Given the description of an element on the screen output the (x, y) to click on. 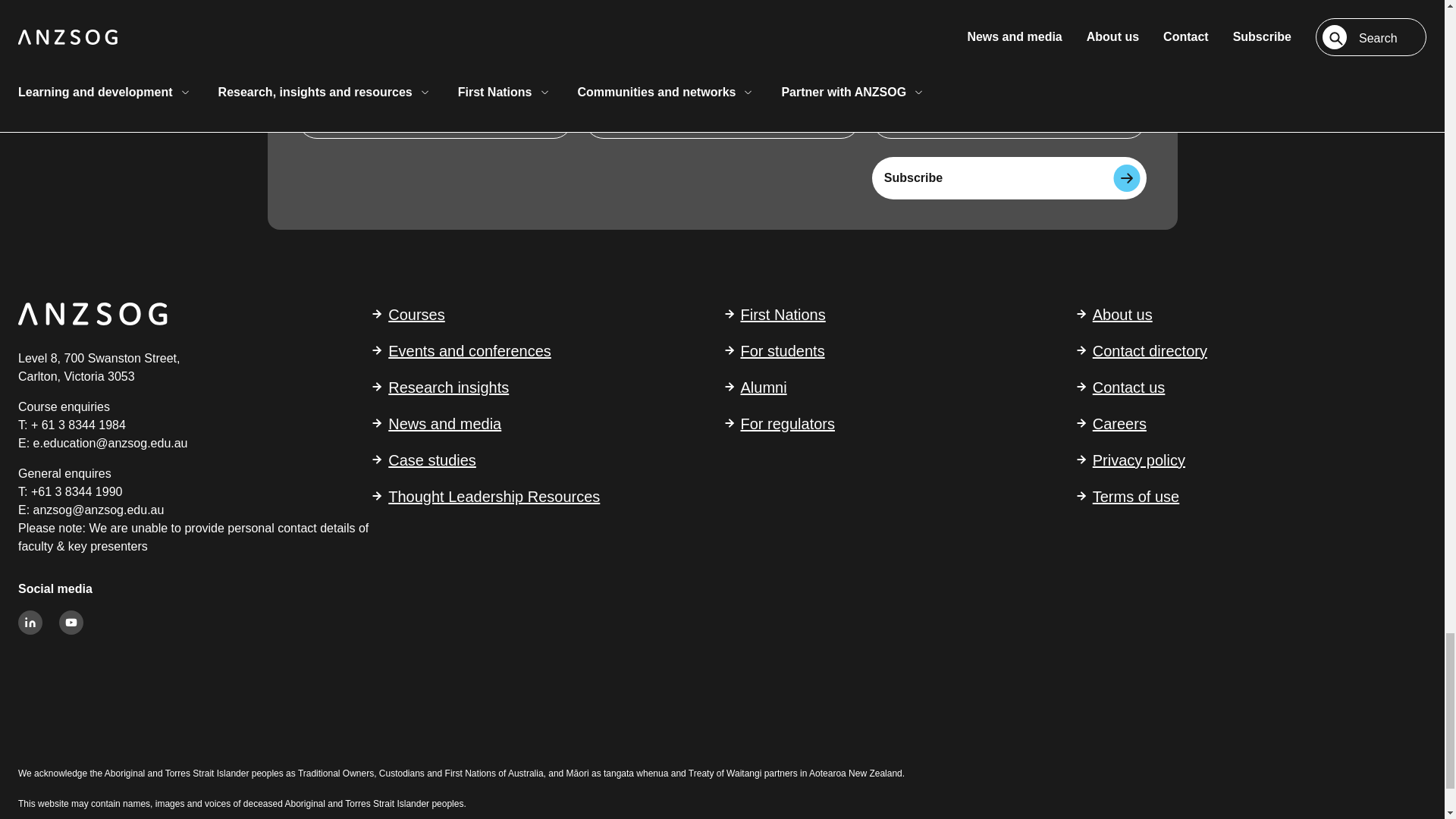
Subscribe (1009, 177)
